Given the description of an element on the screen output the (x, y) to click on. 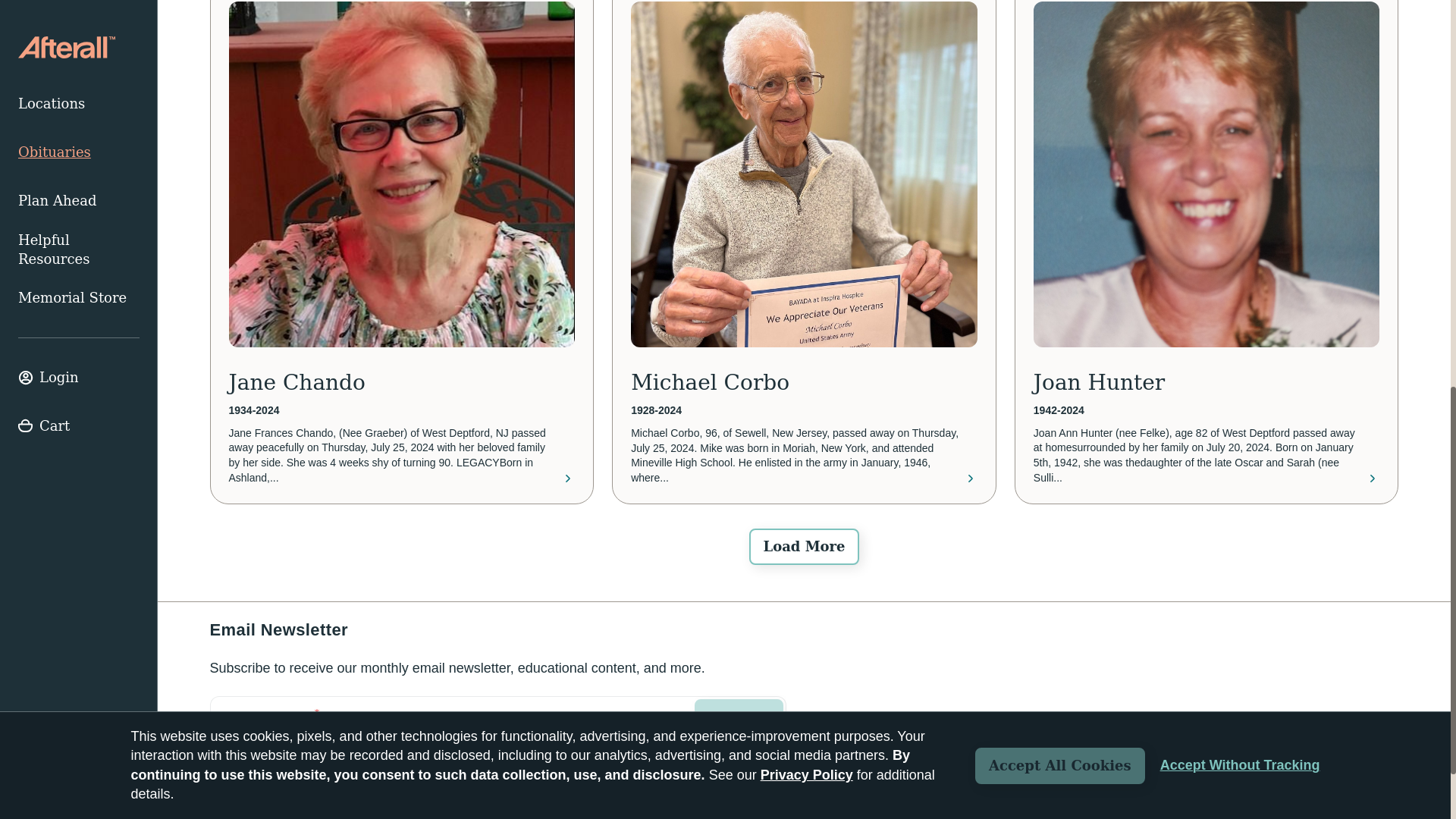
Track an Order (257, 814)
Sign Up (738, 717)
FAQs (341, 814)
Load More (804, 546)
Email Newsletter (497, 734)
